Given the description of an element on the screen output the (x, y) to click on. 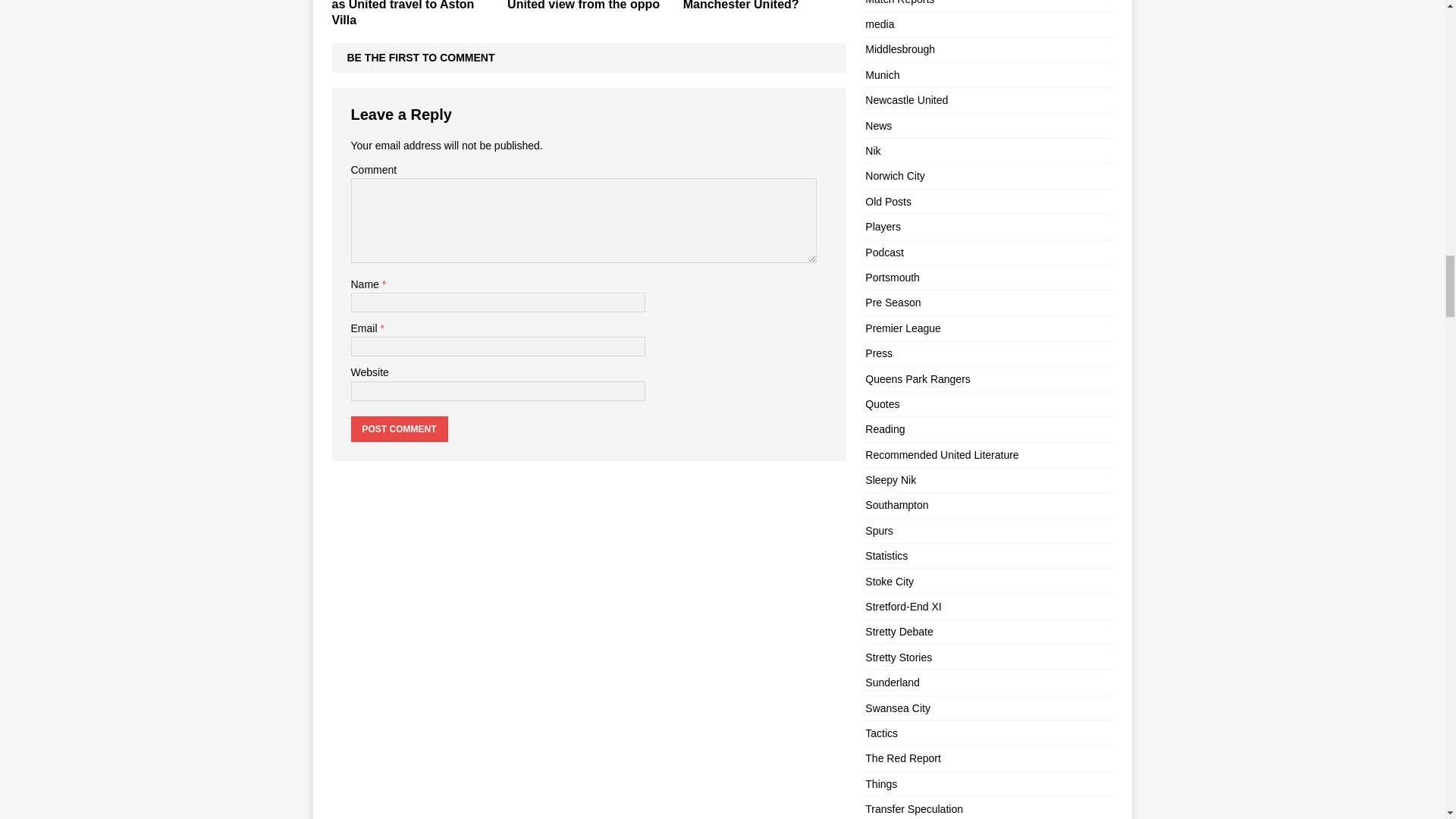
Post Comment (398, 429)
David De Gea missing again as United travel to Aston Villa (413, 13)
